Given the description of an element on the screen output the (x, y) to click on. 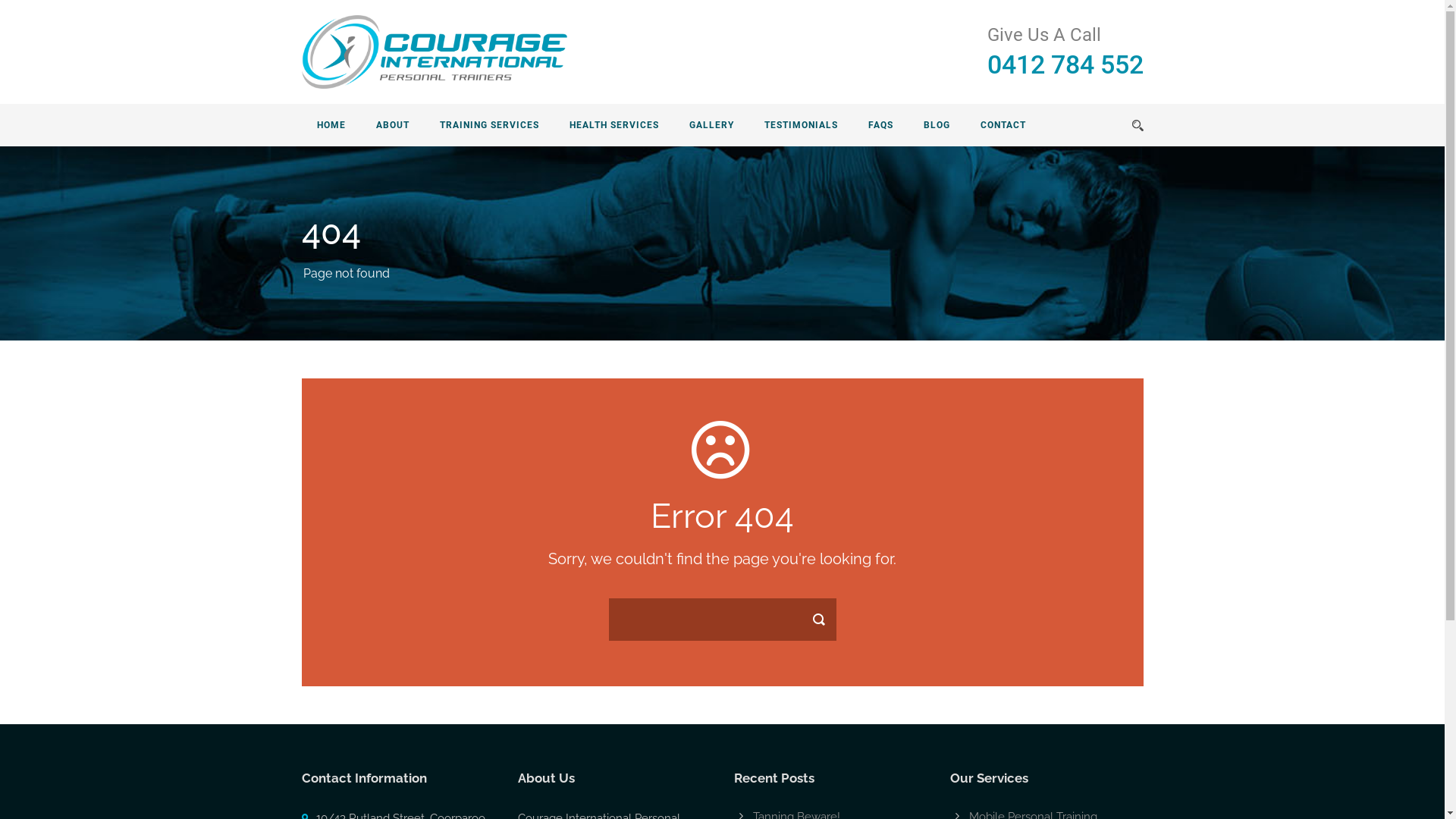
CONTACT Element type: text (1002, 124)
TESTIMONIALS Element type: text (801, 124)
TRAINING SERVICES Element type: text (489, 124)
HOME Element type: text (330, 124)
ABOUT Element type: text (392, 124)
0412 784 552 Element type: text (1065, 64)
HEALTH SERVICES Element type: text (613, 124)
BLOG Element type: text (936, 124)
FAQS Element type: text (879, 124)
GALLERY Element type: text (710, 124)
